Given the description of an element on the screen output the (x, y) to click on. 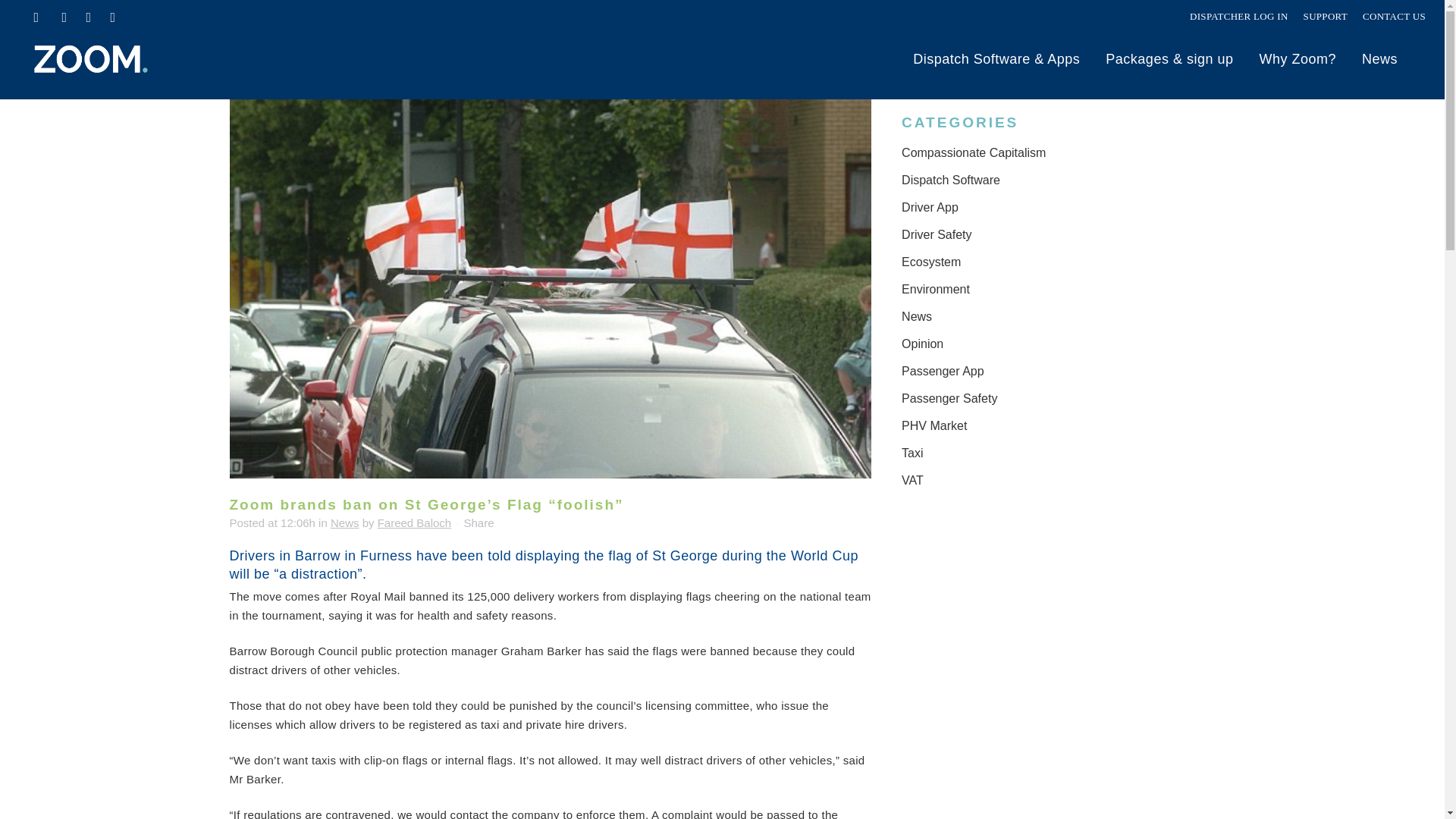
News (344, 522)
Fareed Baloch (414, 522)
DISPATCHER LOG IN (1238, 16)
CONTACT US (1393, 16)
Share (479, 522)
Chat (1406, 779)
Why Zoom? (1297, 59)
News (1379, 59)
SUPPORT (1325, 16)
